Given the description of an element on the screen output the (x, y) to click on. 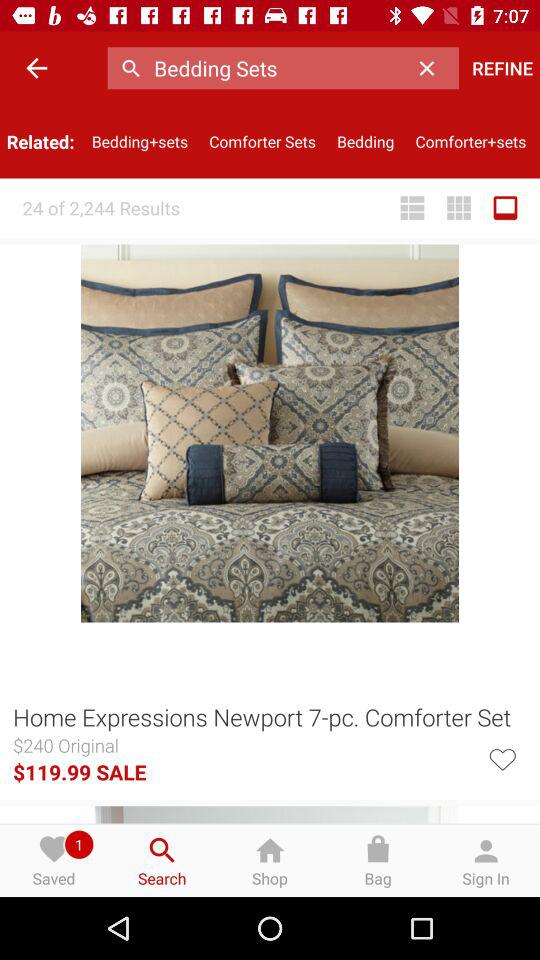
open item next to the 24 of 2 (412, 208)
